Given the description of an element on the screen output the (x, y) to click on. 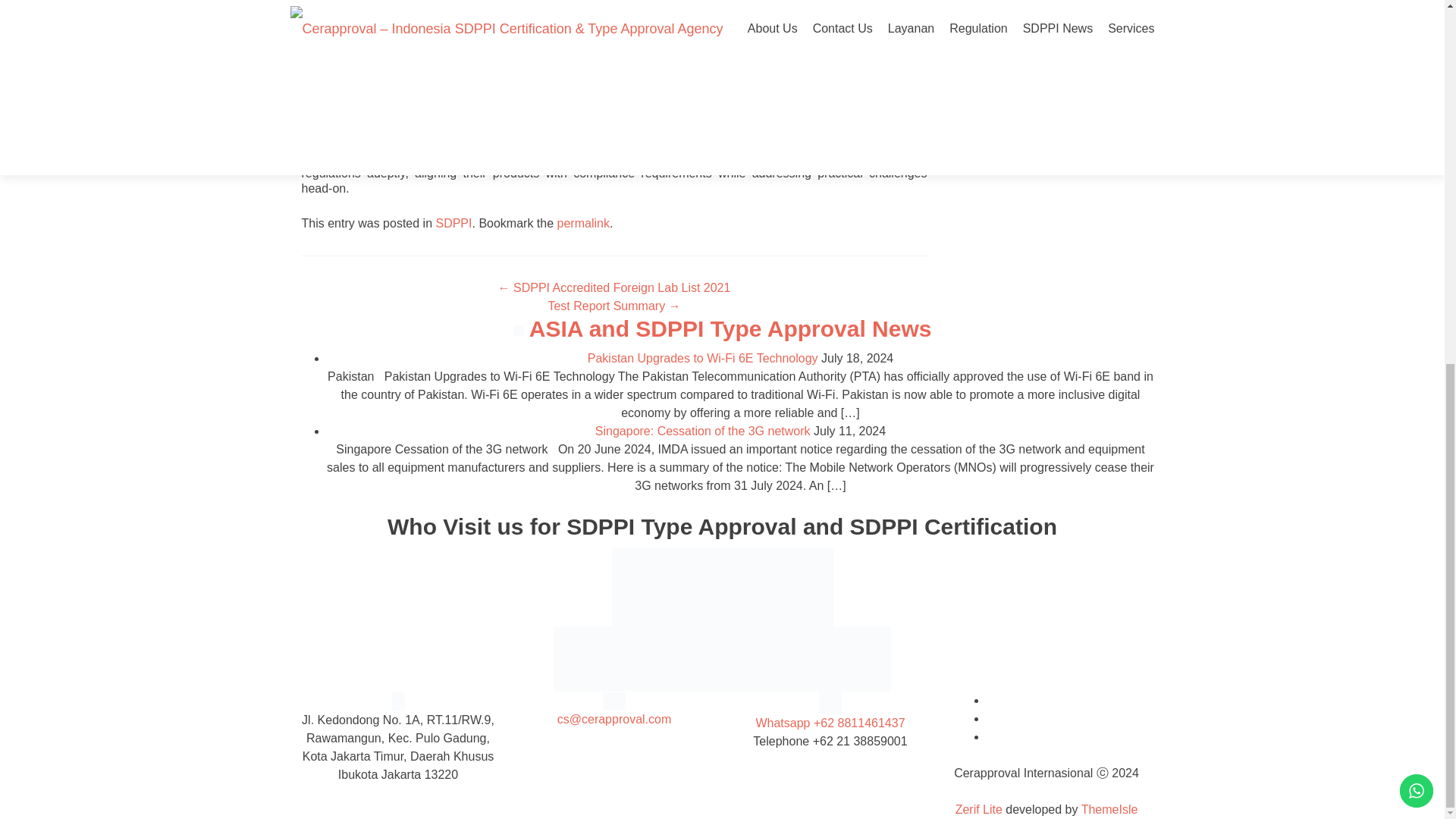
ASIA and SDPPI Type Approval News (730, 328)
SDPPI (453, 223)
Pakistan Upgrades to Wi-Fi 6E Technology (703, 358)
Singapore: Cessation of the 3G network (702, 431)
ThemeIsle (1109, 809)
Zerif Lite (980, 809)
information and guidanc (369, 157)
permalink (583, 223)
